Given the description of an element on the screen output the (x, y) to click on. 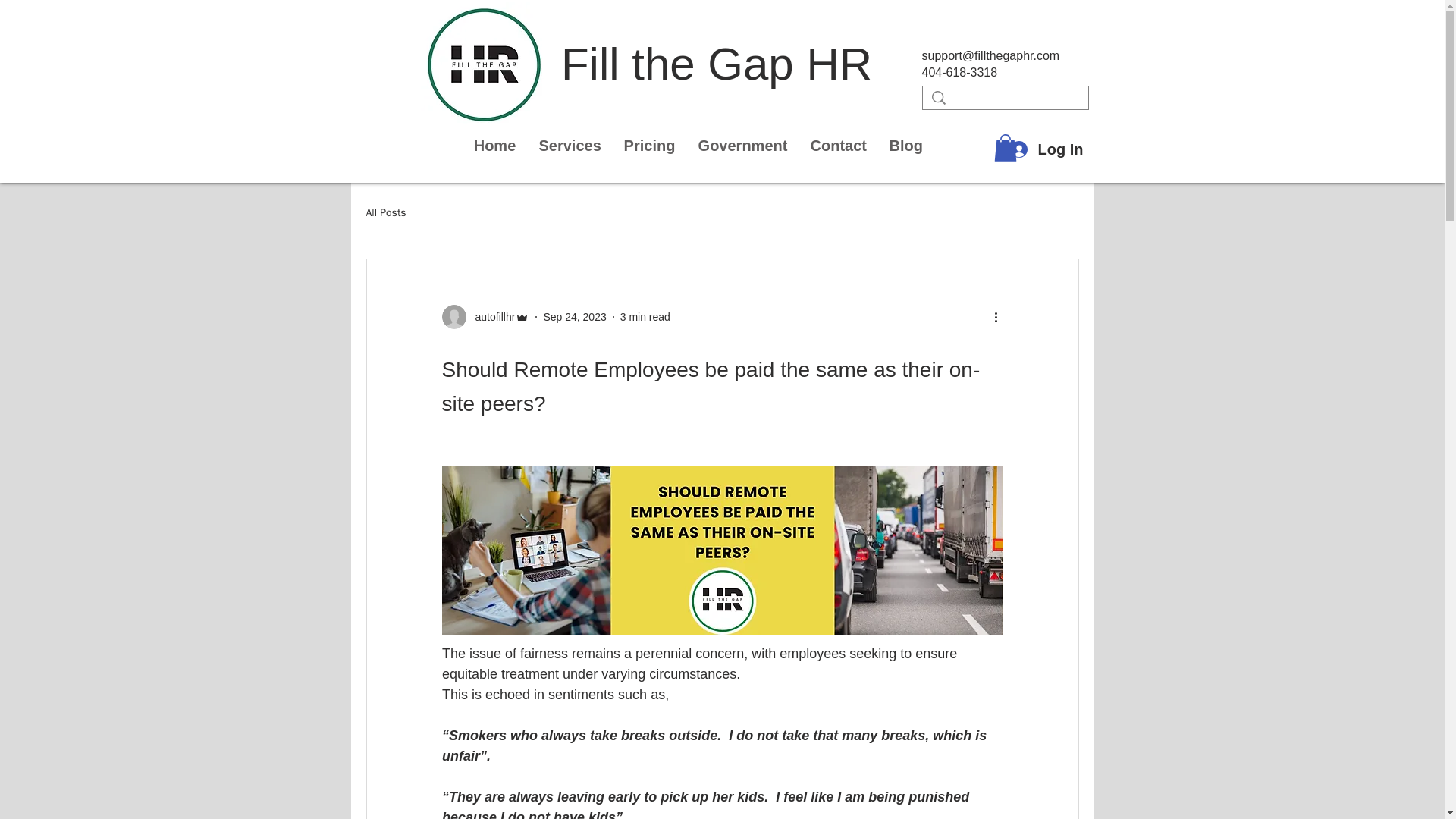
Log In (1047, 149)
Pricing (649, 145)
Blog (905, 145)
Home (495, 145)
All Posts (385, 213)
Services (569, 145)
Contact (838, 145)
autofillhr (490, 317)
3 min read (644, 316)
autofillhr (485, 316)
Government (743, 145)
Sep 24, 2023 (574, 316)
